Given the description of an element on the screen output the (x, y) to click on. 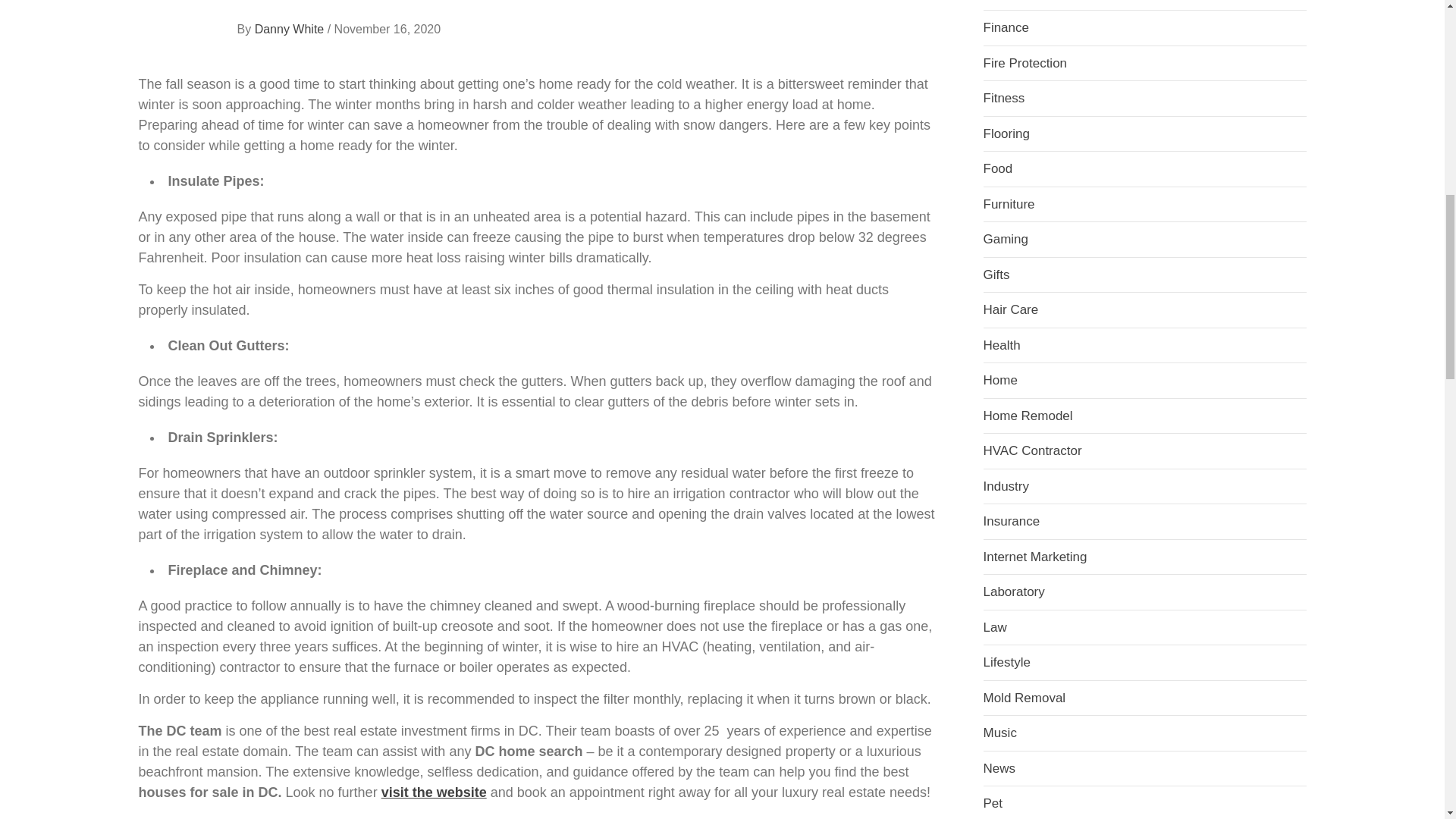
Danny White (290, 29)
Finance (1004, 27)
Fitness (1003, 97)
Flooring (1005, 133)
Fire Protection (1024, 63)
visit the website (433, 792)
Furniture (1007, 204)
Gifts (995, 274)
Food (996, 168)
Gaming (1004, 238)
